Given the description of an element on the screen output the (x, y) to click on. 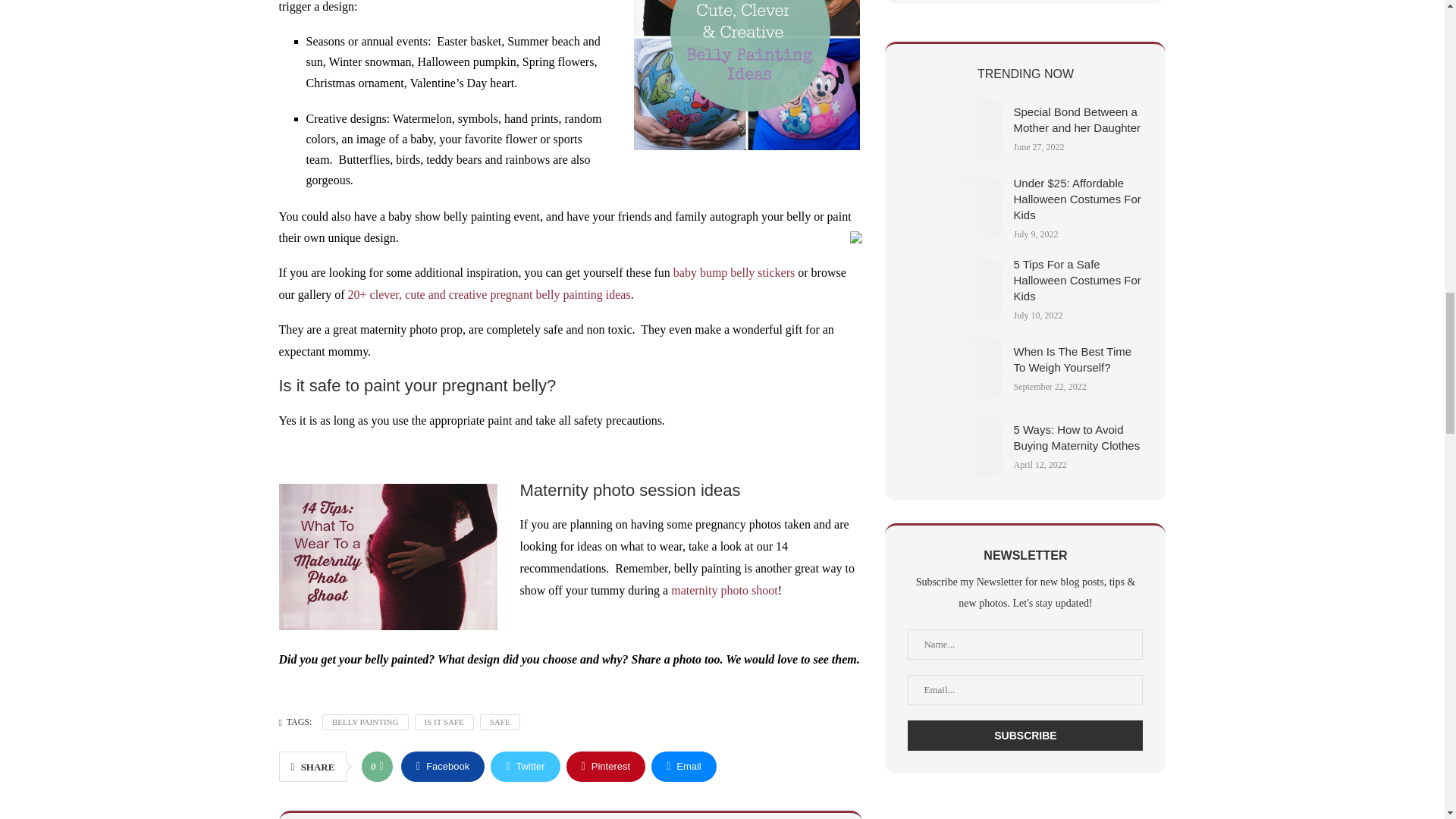
Subscribe (1024, 735)
